Given the description of an element on the screen output the (x, y) to click on. 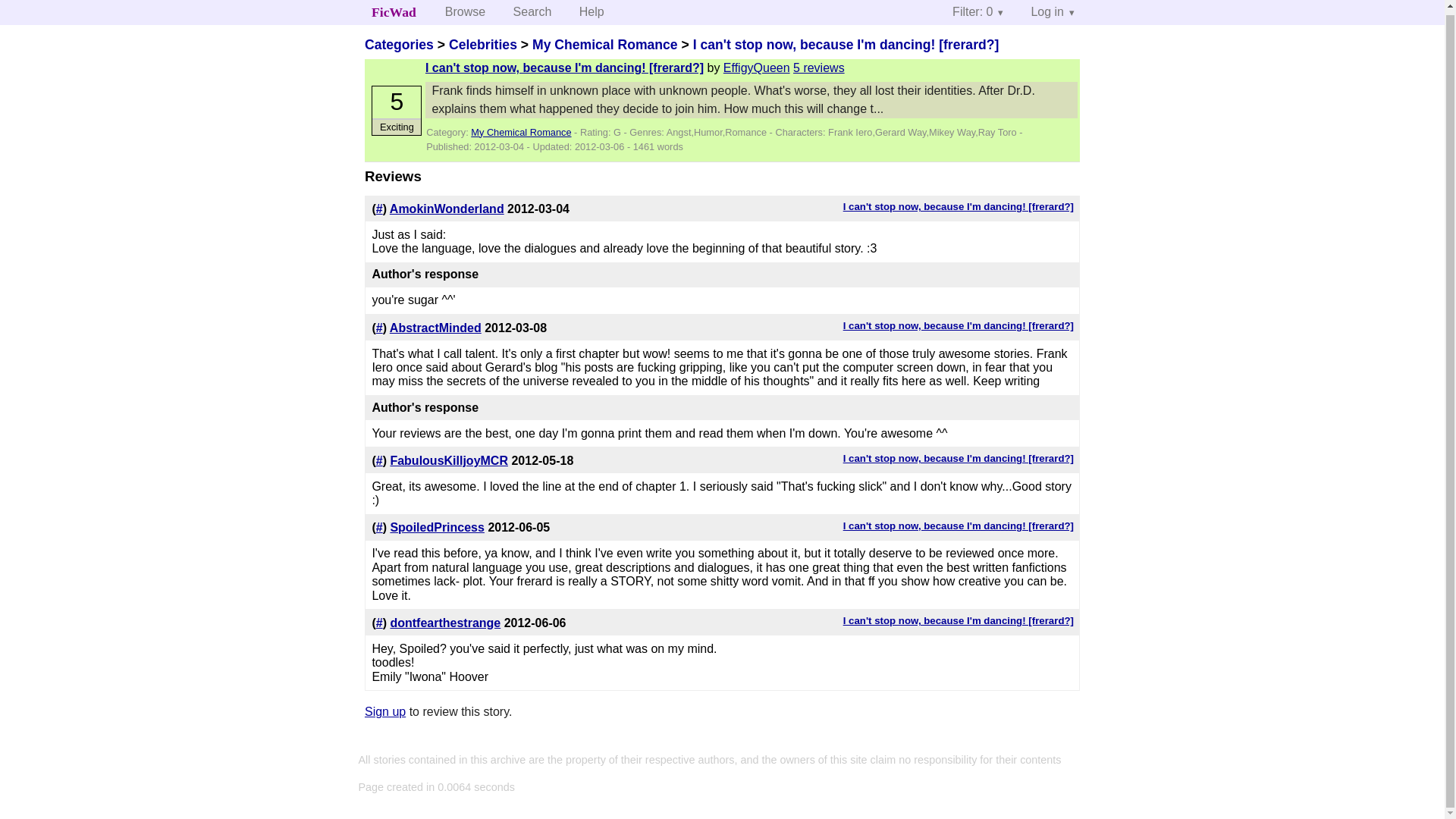
Browse (464, 12)
Categories (399, 44)
5 reviews (818, 67)
My Chemical Romance (520, 132)
Filter: 0 (977, 12)
FicWad (393, 12)
AmokinWonderland (446, 208)
2012-06-06 02:20:53 (534, 622)
fresh-picked original and fan fiction (393, 12)
Celebrities (482, 44)
Help (591, 12)
2012-03-08 10:03:03 (515, 327)
Sign up (385, 711)
dontfearthestrange (445, 622)
AbstractMinded (435, 327)
